Given the description of an element on the screen output the (x, y) to click on. 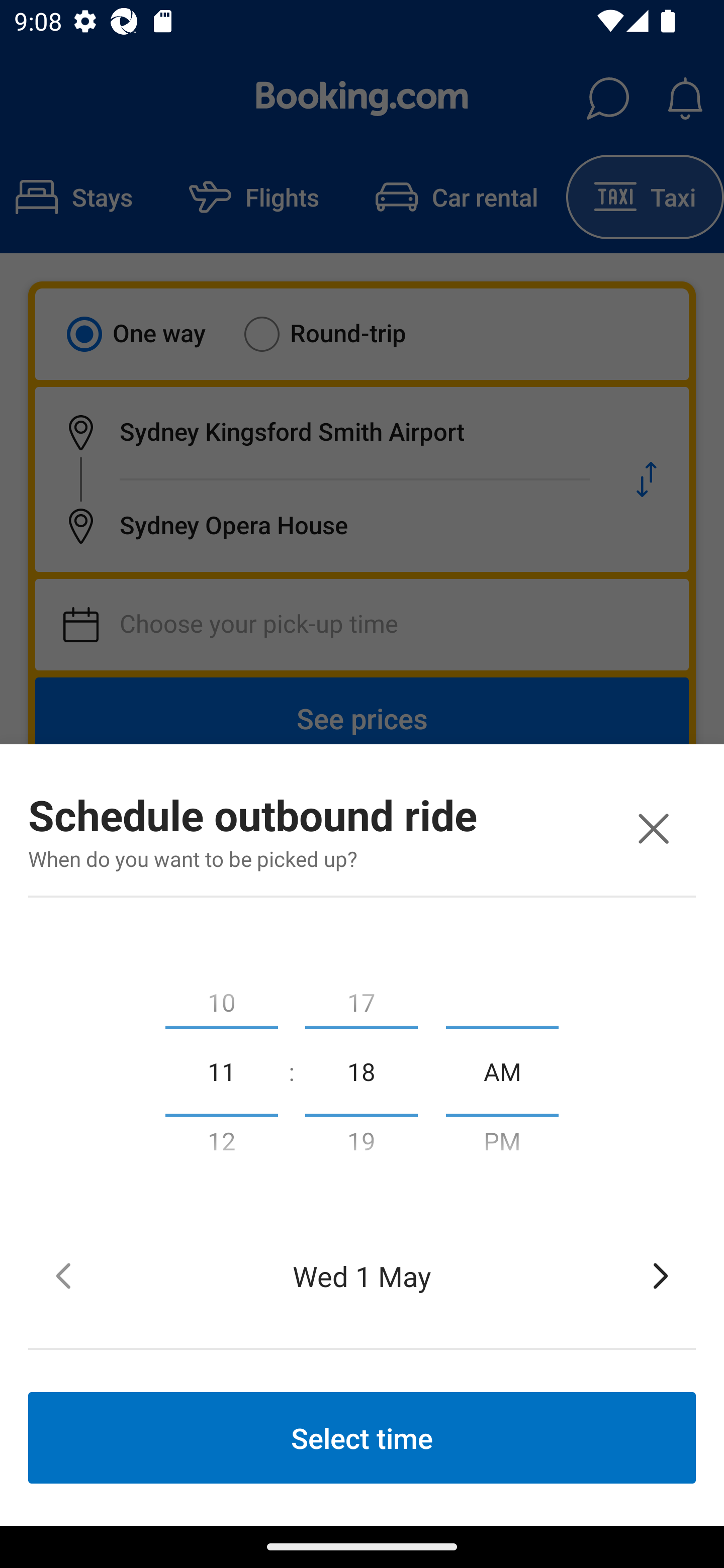
Close window (653, 828)
10 (221, 997)
17 (361, 997)
11 (221, 1070)
18 (361, 1070)
AM (501, 1070)
12 (221, 1144)
19 (361, 1144)
PM (501, 1144)
Tap to move back to the previous date (63, 1275)
Tap to move forward to the next date (660, 1275)
Wed 1 May Selected date, Wednesday, 1 May (361, 1275)
Select time (361, 1437)
